Given the description of an element on the screen output the (x, y) to click on. 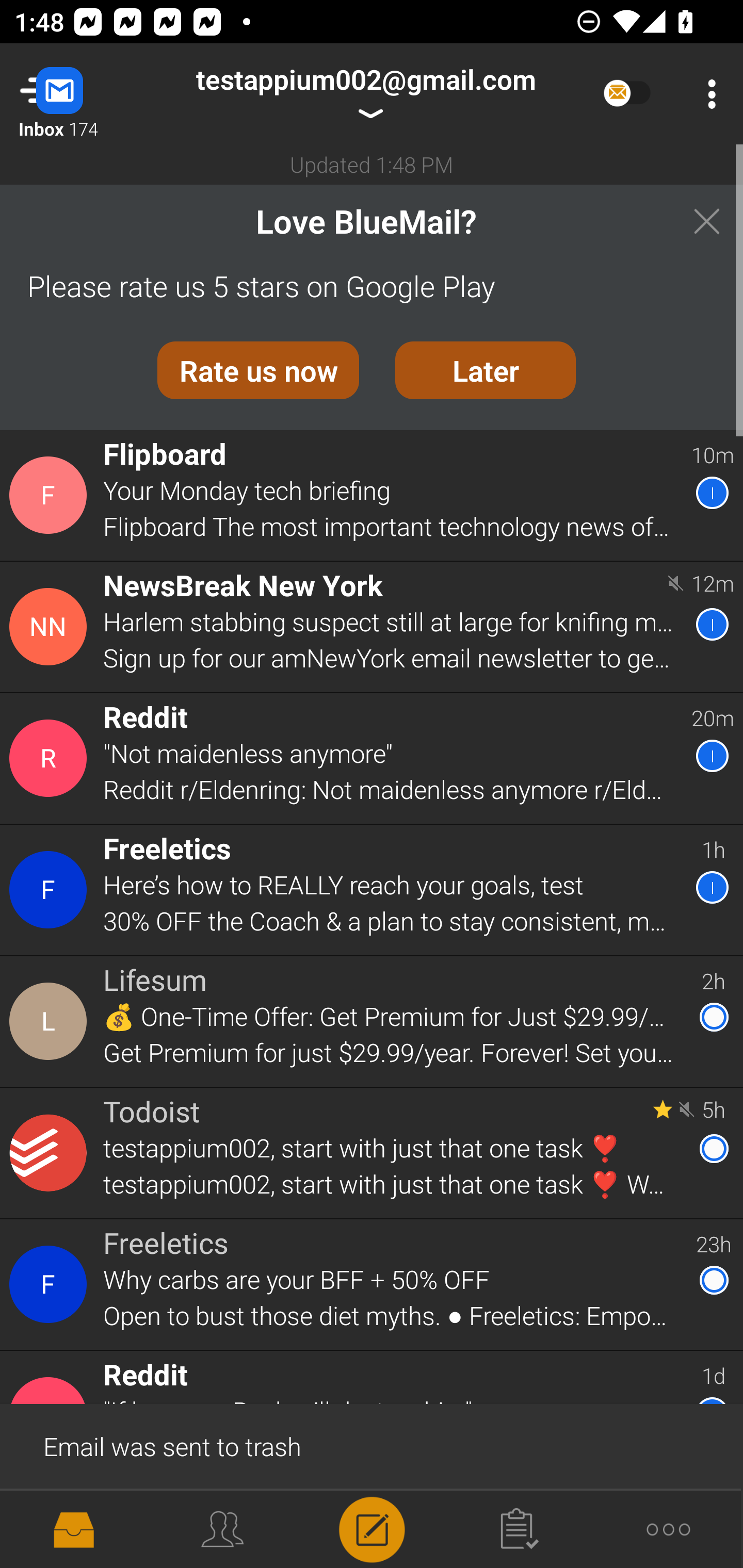
Navigate up (81, 93)
testappium002@gmail.com (365, 93)
More Options (706, 93)
Updated 1:48 PM (371, 164)
Rate us now (257, 370)
Later (485, 370)
Contact Details (50, 495)
Contact Details (50, 626)
Contact Details (50, 758)
Contact Details (50, 889)
Contact Details (50, 1021)
Contact Details (50, 1153)
Contact Details (50, 1284)
Email was sent to trash (371, 1445)
Compose (371, 1528)
